Given the description of an element on the screen output the (x, y) to click on. 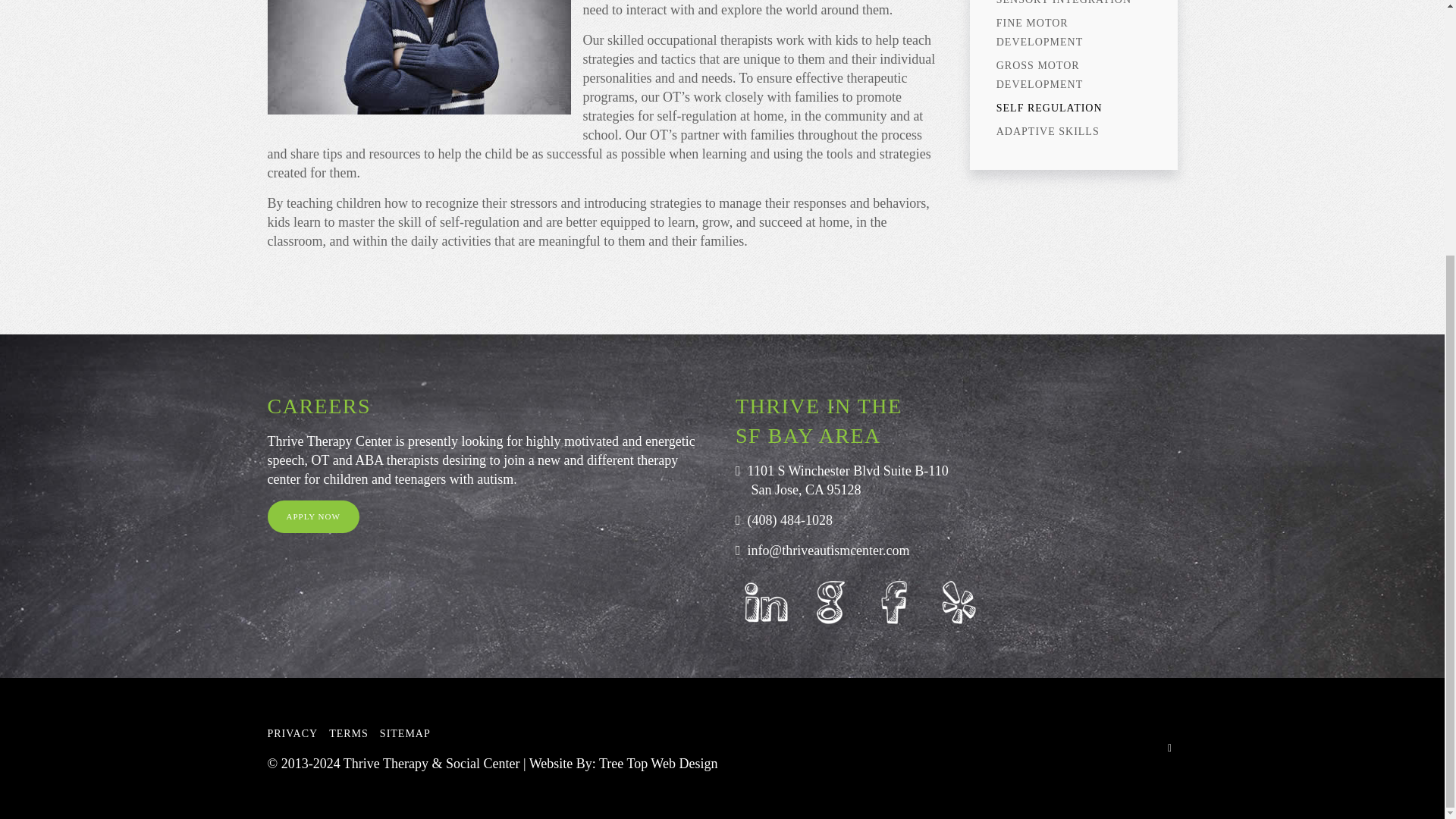
SITEMAP (405, 732)
GROSS MOTOR DEVELOPMENT (1073, 75)
Tree Top Web Design (657, 763)
TreeTopWebDesign.com (657, 763)
SELF REGULATION (1073, 107)
FINE MOTOR DEVELOPMENT (1073, 32)
SENSORY INTEGRATION (1073, 5)
PRIVACY (291, 732)
APPLY NOW (312, 516)
ADAPTIVE SKILLS (1073, 131)
TERMS (348, 732)
